Given the description of an element on the screen output the (x, y) to click on. 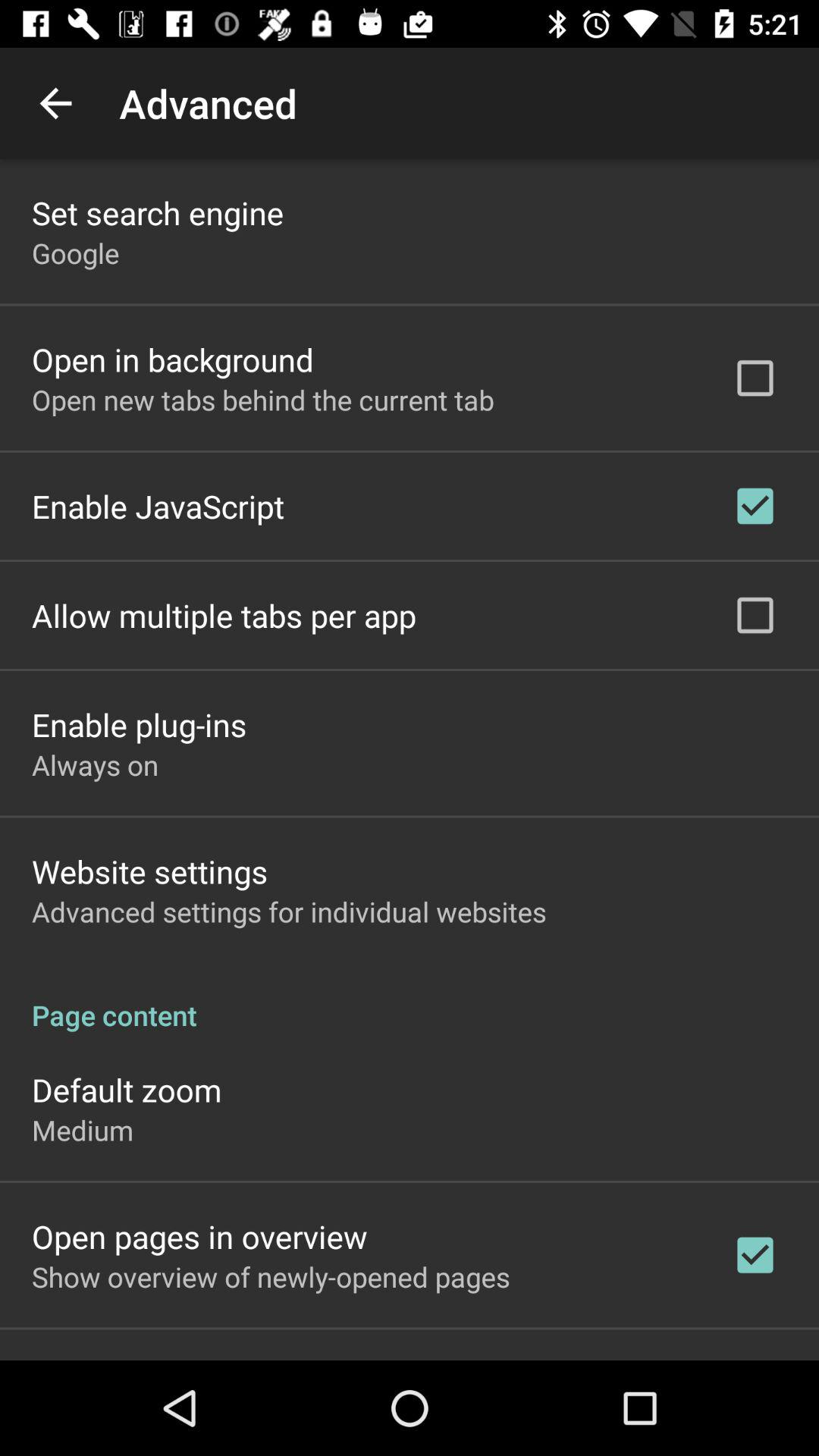
swipe to show overview of item (270, 1276)
